Given the description of an element on the screen output the (x, y) to click on. 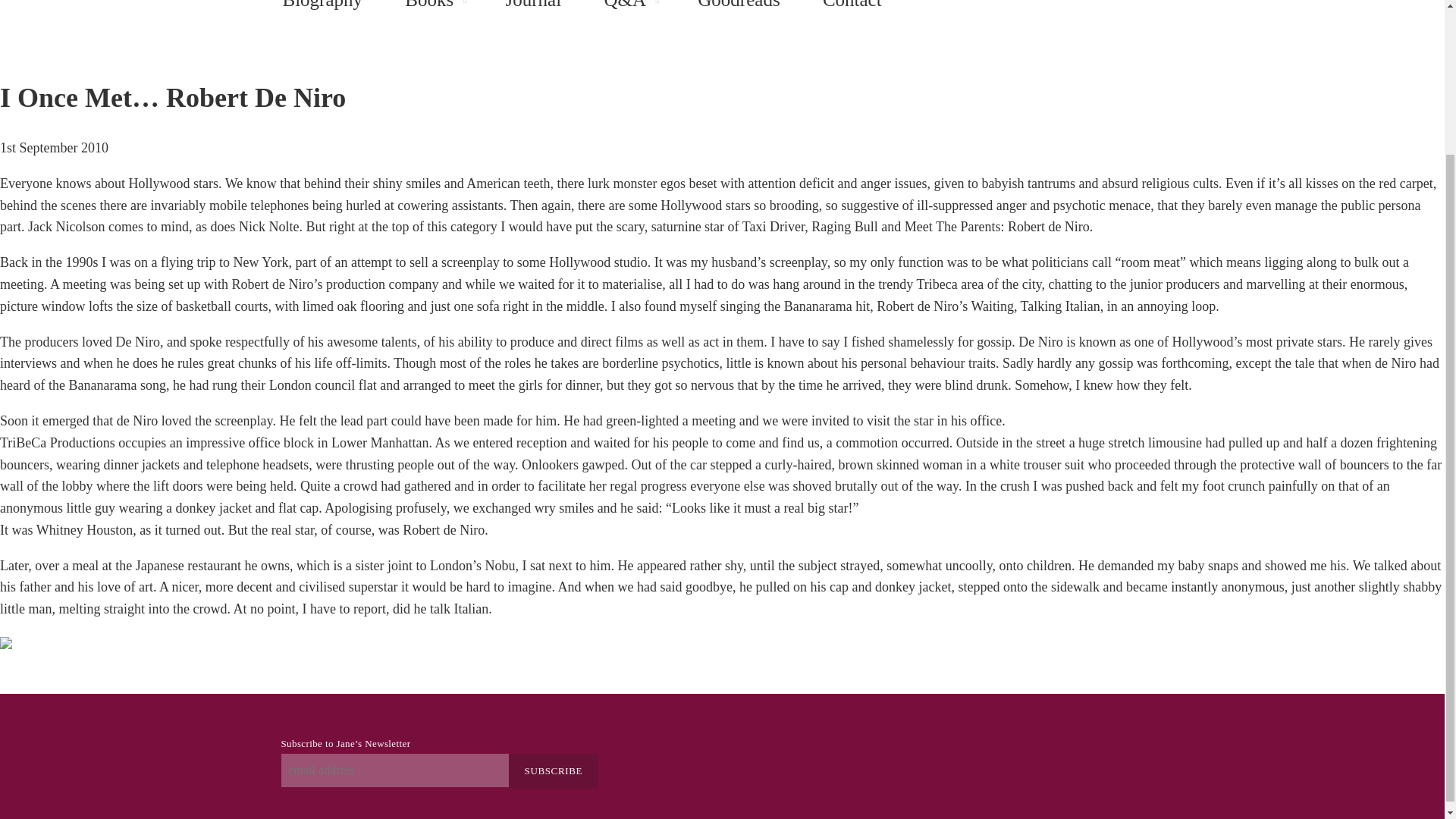
Biography (321, 10)
Subscribe (553, 770)
Books (429, 10)
